Given the description of an element on the screen output the (x, y) to click on. 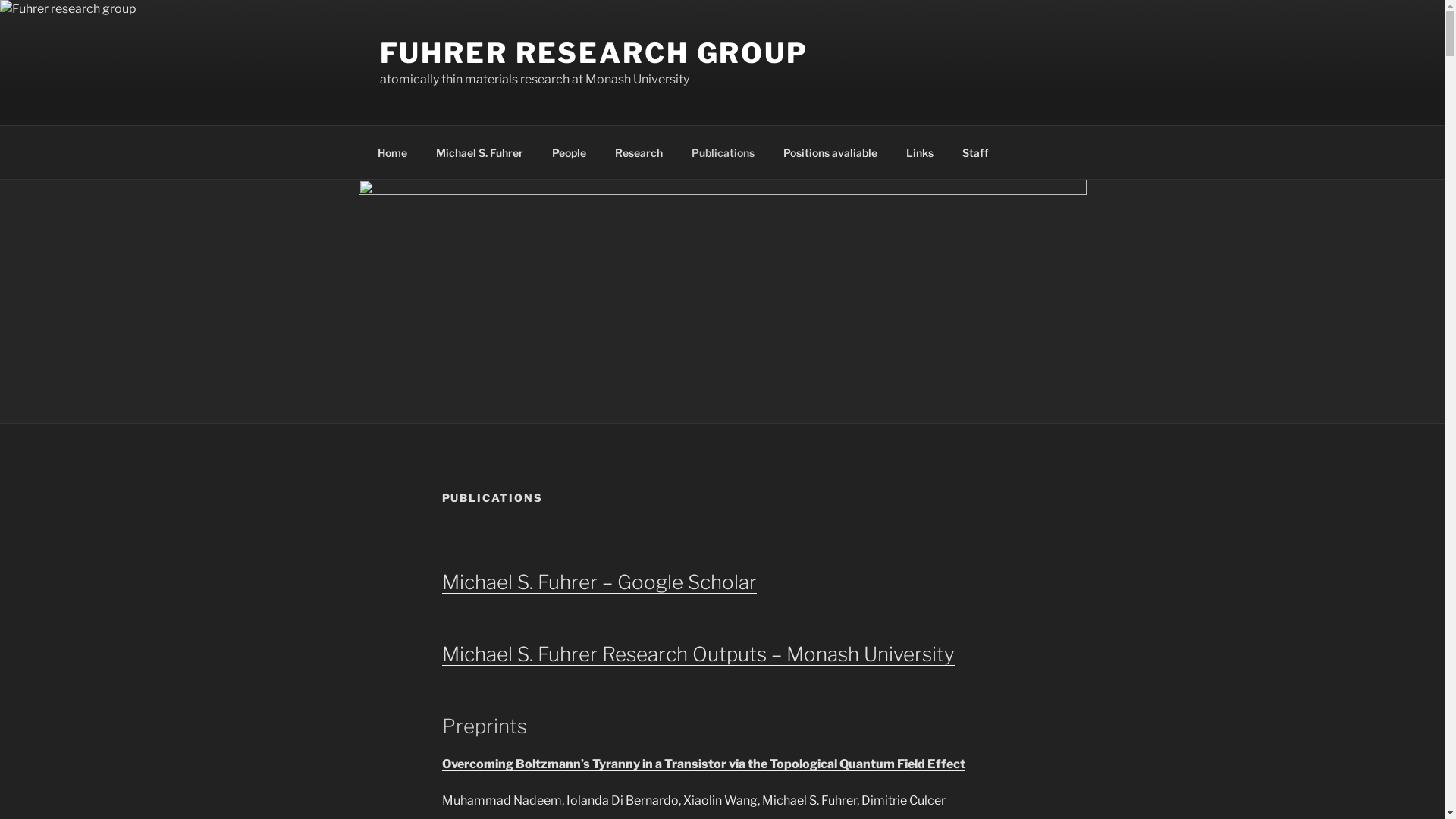
People Element type: text (568, 151)
Research Element type: text (639, 151)
Links Element type: text (920, 151)
Home Element type: text (392, 151)
Positions avaliable Element type: text (830, 151)
FUHRER RESEARCH GROUP Element type: text (593, 52)
Staff Element type: text (975, 151)
Publications Element type: text (722, 151)
Michael S. Fuhrer Element type: text (479, 151)
